Given the description of an element on the screen output the (x, y) to click on. 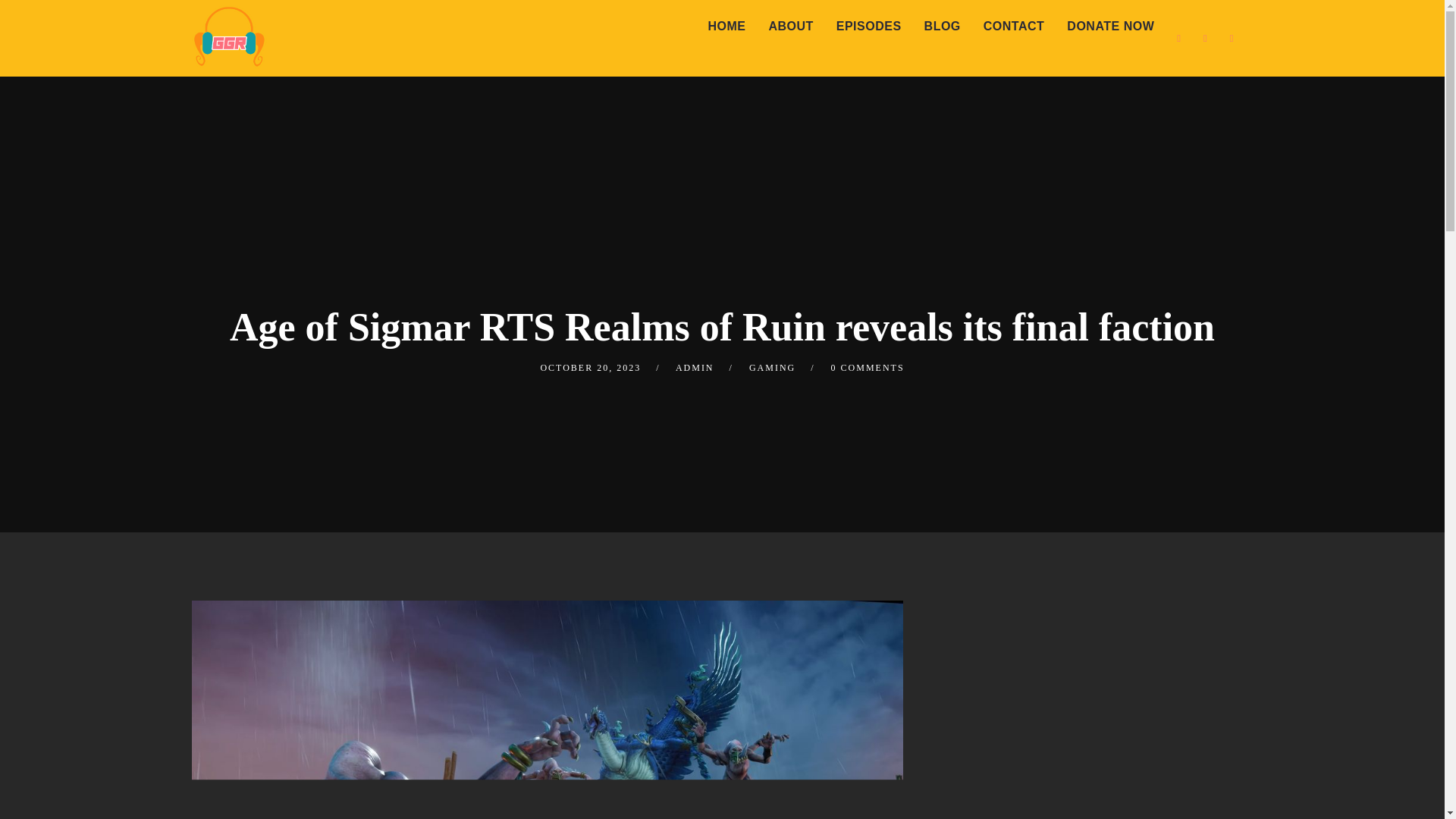
HOME (726, 26)
0 COMMENTS (867, 367)
BLOG (942, 26)
ADMIN (694, 367)
GAMING (771, 367)
DONATE NOW (1110, 26)
Submit (32, 22)
CONTACT (1014, 26)
Gamer Girls Radio (228, 35)
ABOUT (790, 26)
